Given the description of an element on the screen output the (x, y) to click on. 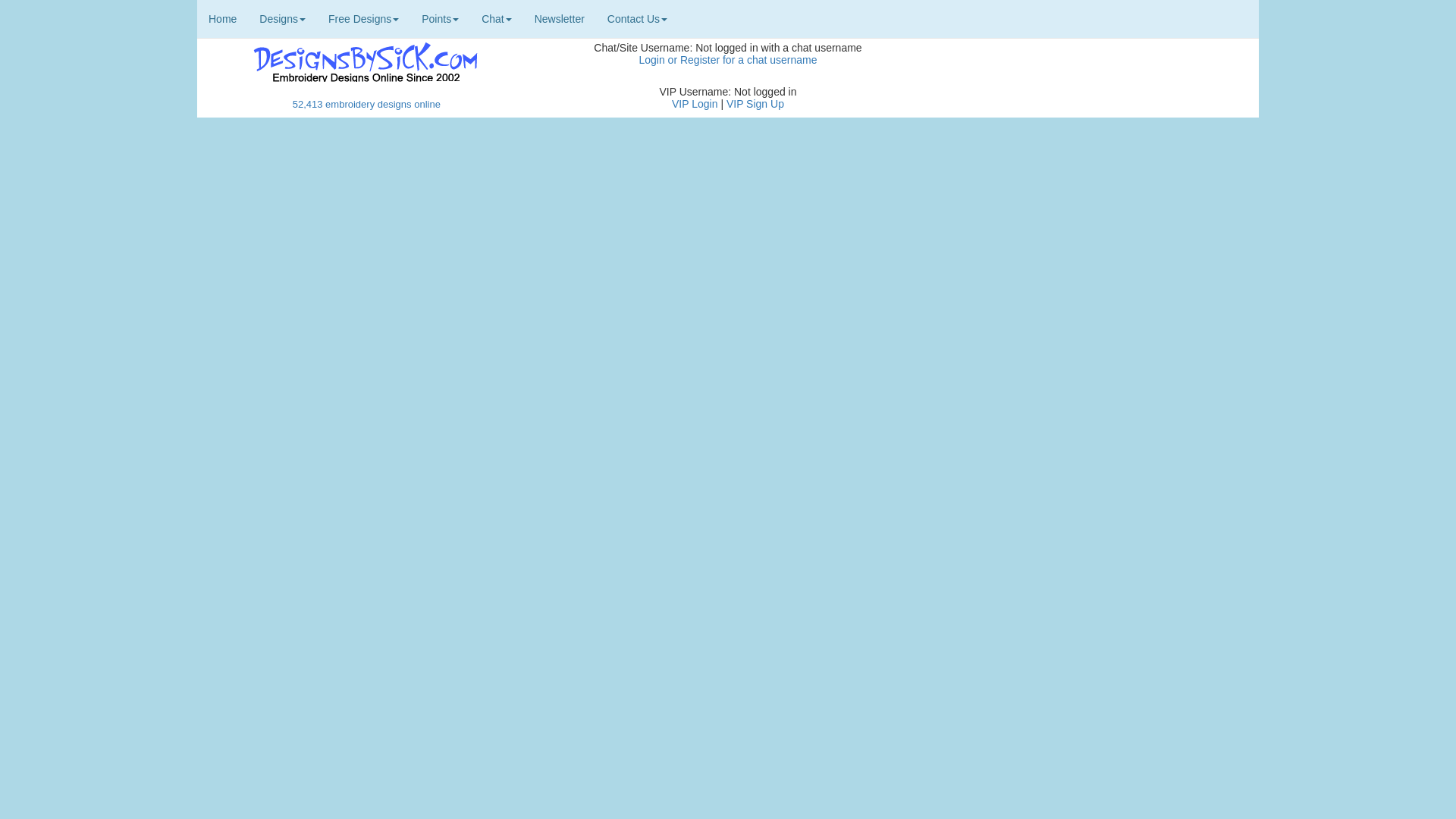
Newsletter (558, 18)
VIP Login (694, 103)
Chat (496, 18)
Login or Register for a chat username (727, 60)
52,413 embroidery designs online (366, 103)
Free Designs (363, 18)
Contact Us (636, 18)
VIP Sign Up (755, 103)
Home (221, 18)
Designs (282, 18)
